Given the description of an element on the screen output the (x, y) to click on. 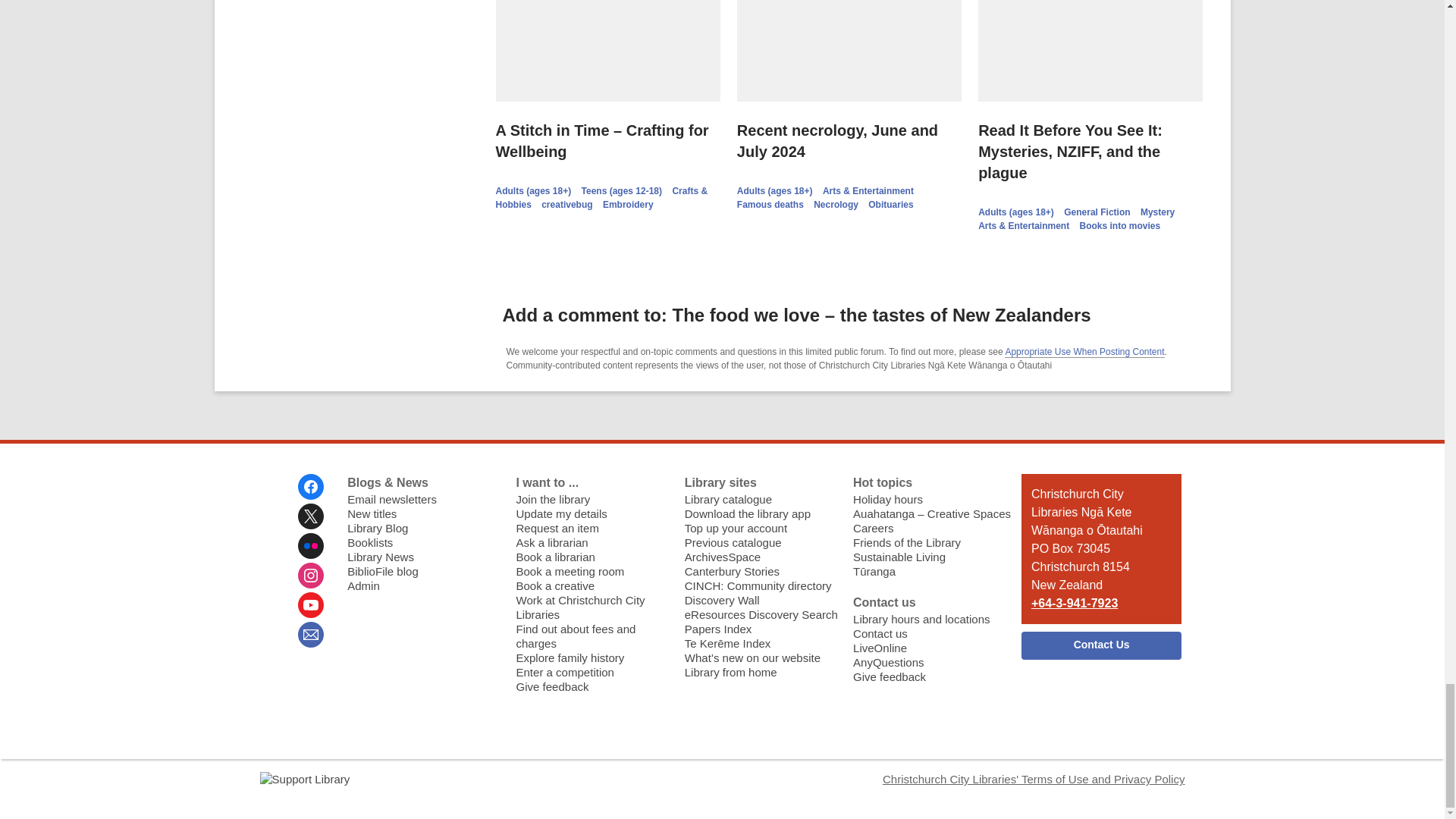
All our locations and hours (921, 618)
